Given the description of an element on the screen output the (x, y) to click on. 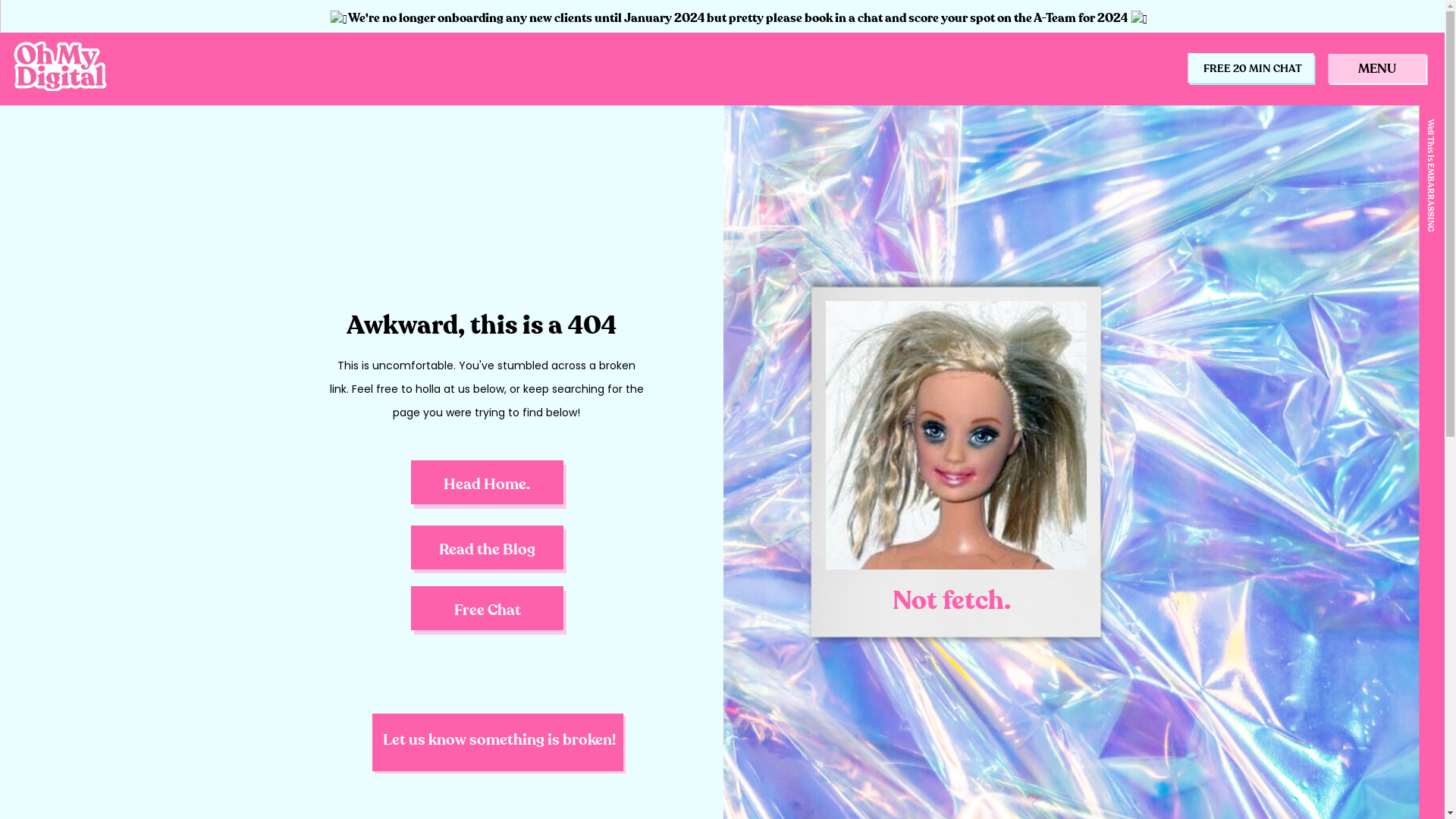
Free Chat Element type: text (486, 618)
Head Home. Element type: text (486, 492)
FREE 20 MIN CHAT Element type: text (1252, 67)
Let us know something is broken! Element type: text (498, 742)
Read the Blog Element type: text (486, 558)
